Given the description of an element on the screen output the (x, y) to click on. 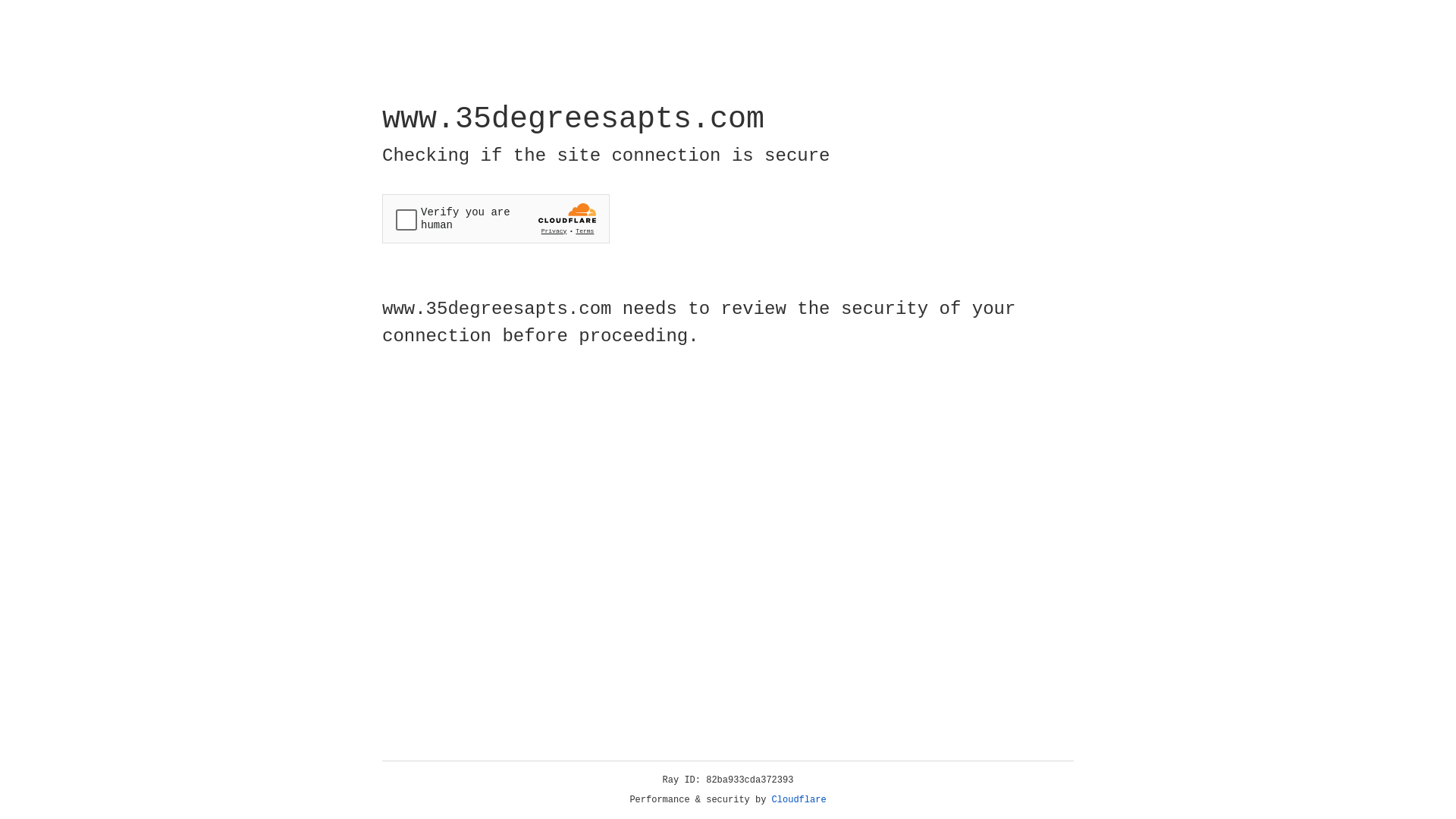
Widget containing a Cloudflare security challenge Element type: hover (495, 218)
Cloudflare Element type: text (798, 799)
